Given the description of an element on the screen output the (x, y) to click on. 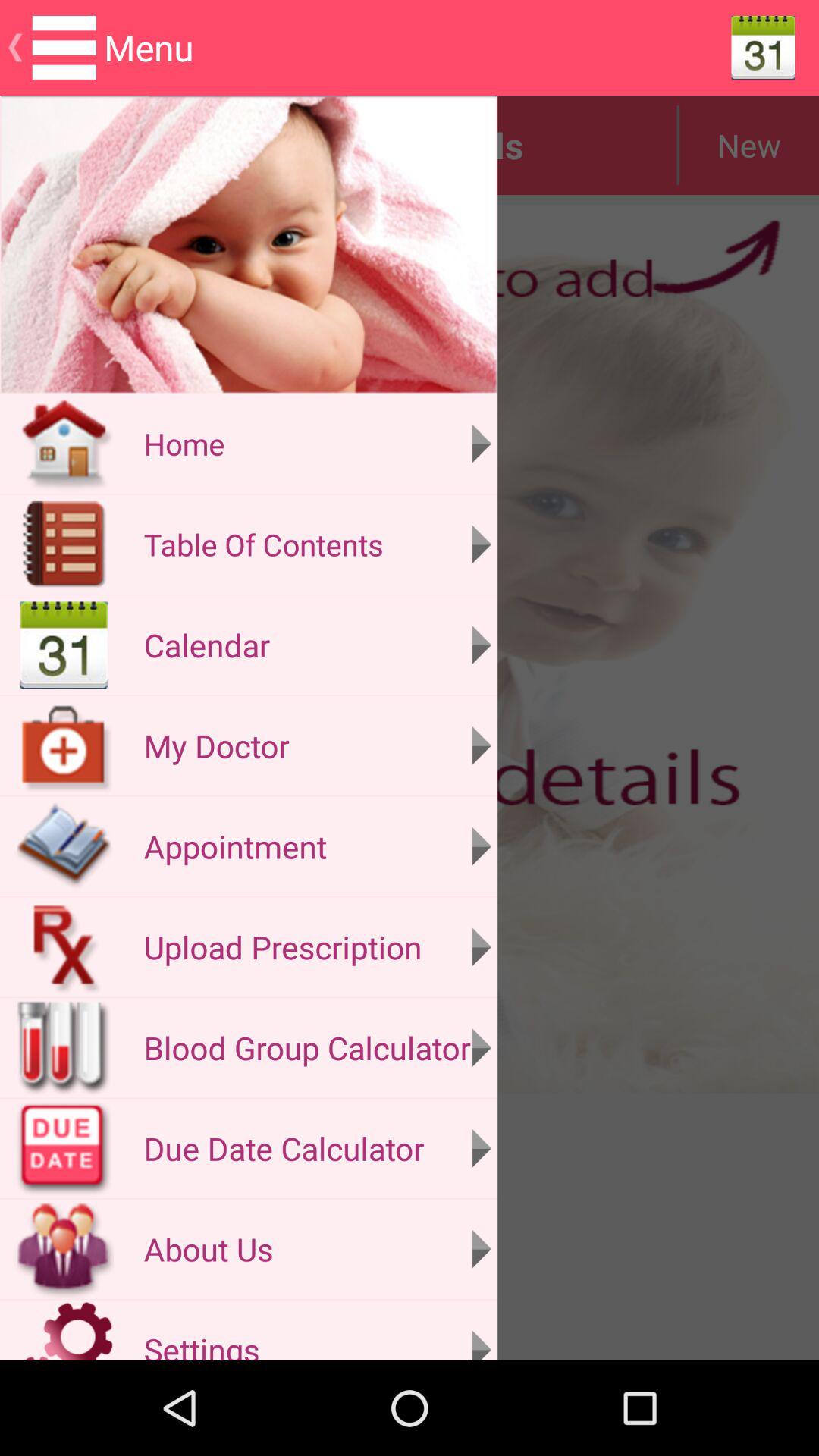
click the icon which is left of appointment (63, 846)
